Given the description of an element on the screen output the (x, y) to click on. 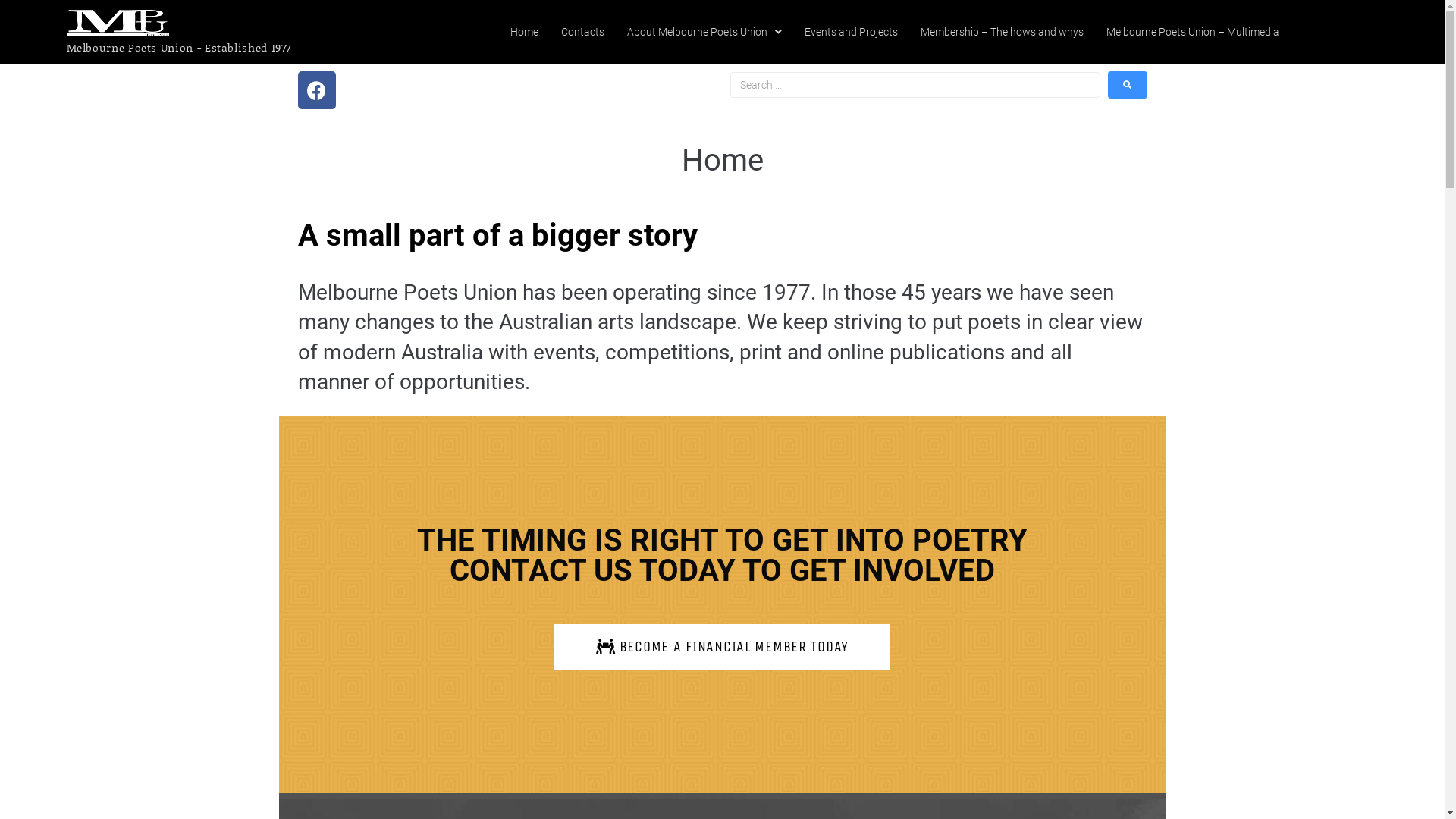
BECOME A FINANCIAL MEMBER TODAY Element type: text (722, 647)
Home Element type: text (523, 31)
Contacts Element type: text (582, 31)
Events and Projects Element type: text (851, 31)
About Melbourne Poets Union Element type: text (704, 31)
